Given the description of an element on the screen output the (x, y) to click on. 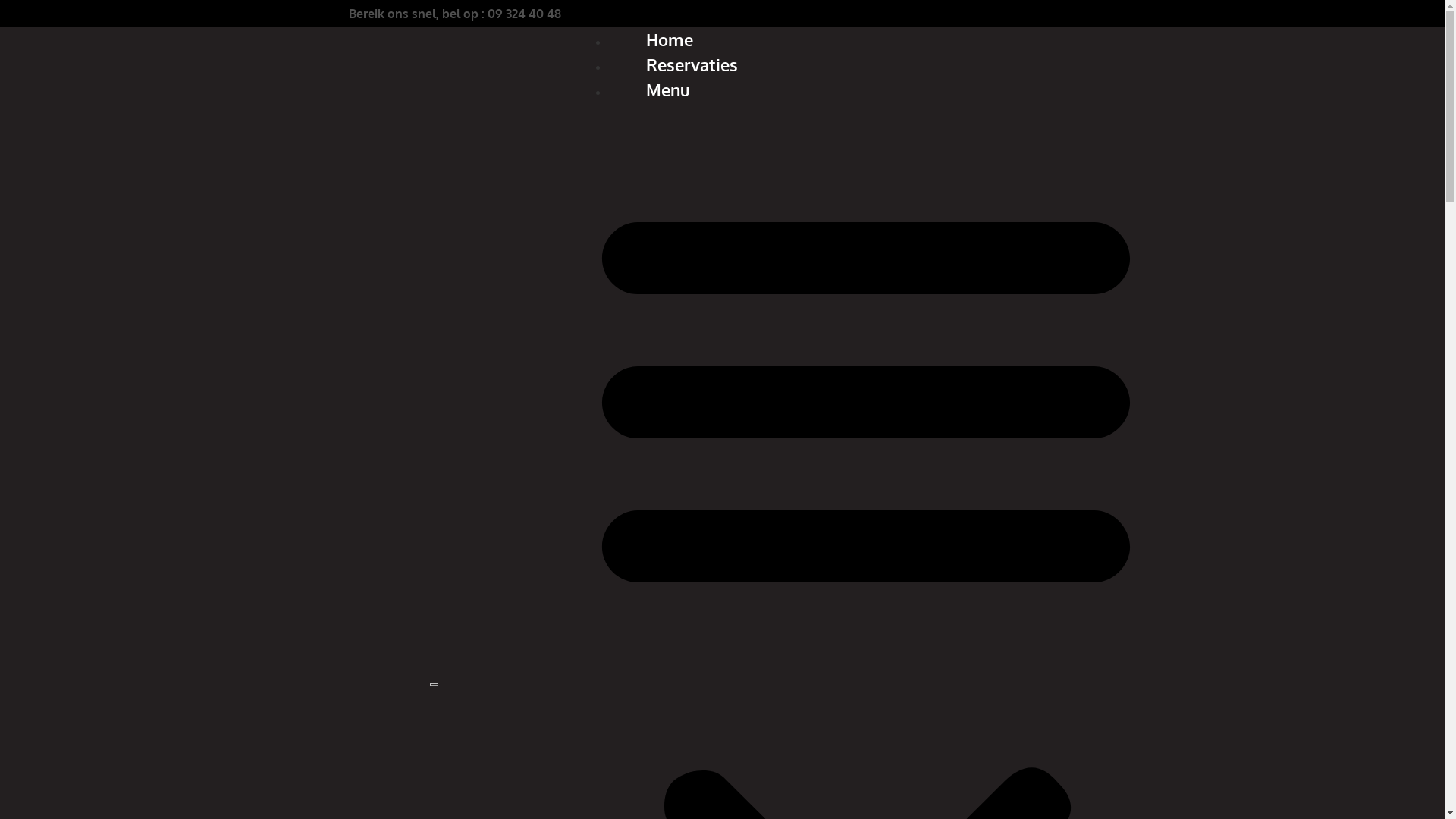
Home Element type: text (669, 39)
Reservaties Element type: text (691, 64)
Menu Element type: text (668, 89)
